Given the description of an element on the screen output the (x, y) to click on. 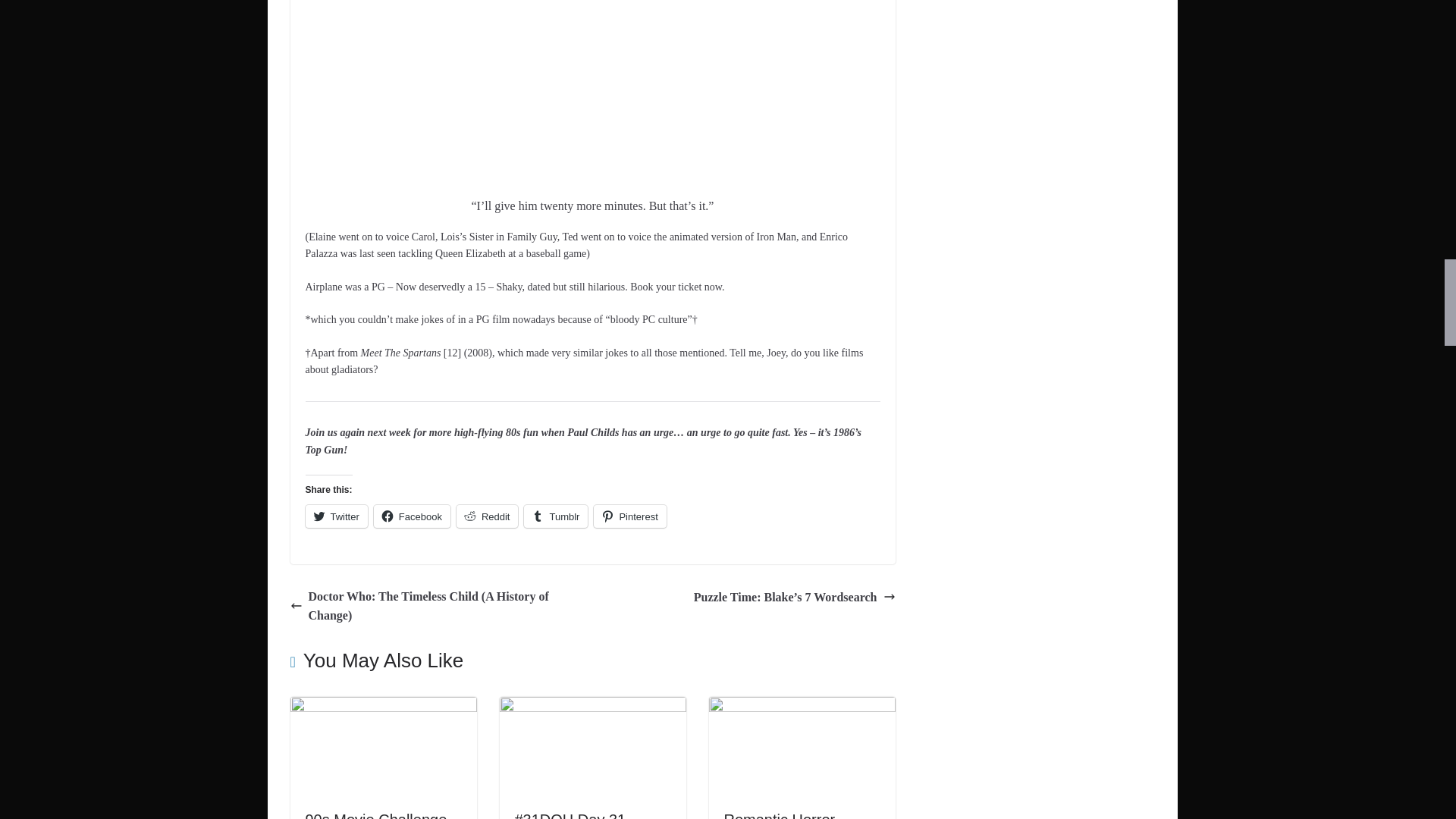
Click to share on Reddit (487, 516)
Click to share on Tumblr (556, 516)
Click to share on Pinterest (629, 516)
Click to share on Facebook (411, 516)
Click to share on Twitter (335, 516)
